Given the description of an element on the screen output the (x, y) to click on. 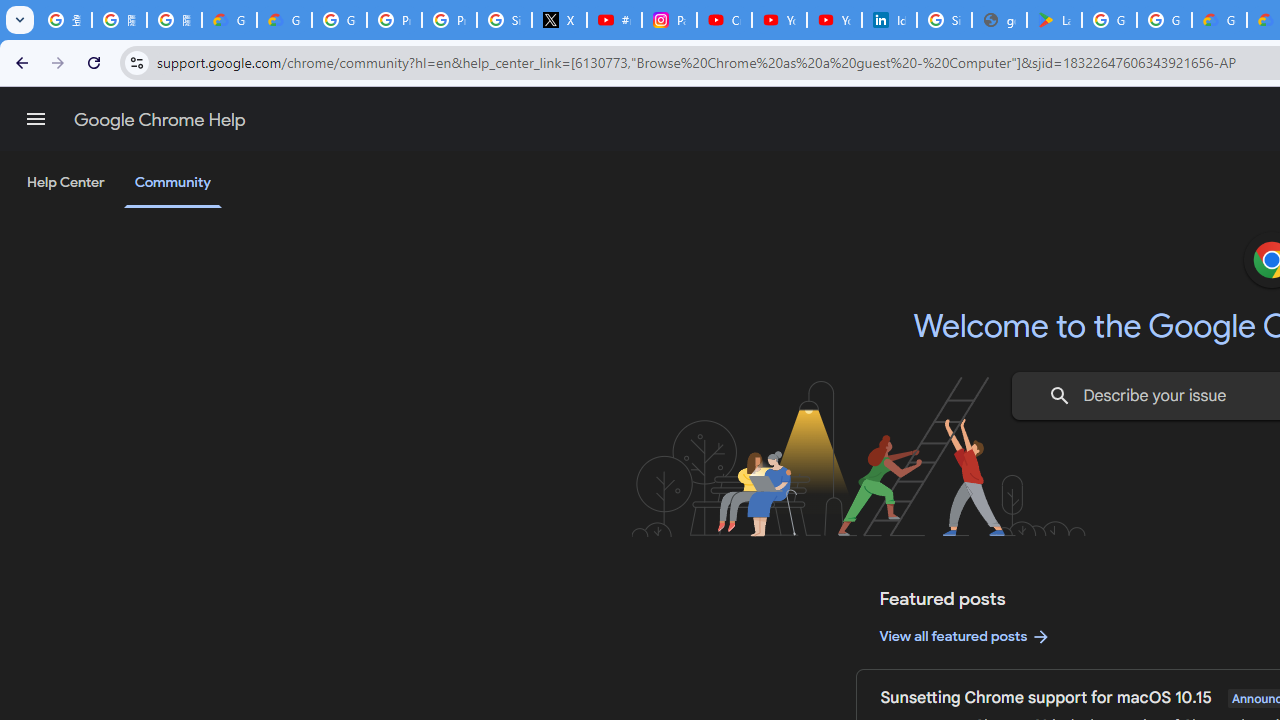
Google Workspace - Specific Terms (1163, 20)
